Given the description of an element on the screen output the (x, y) to click on. 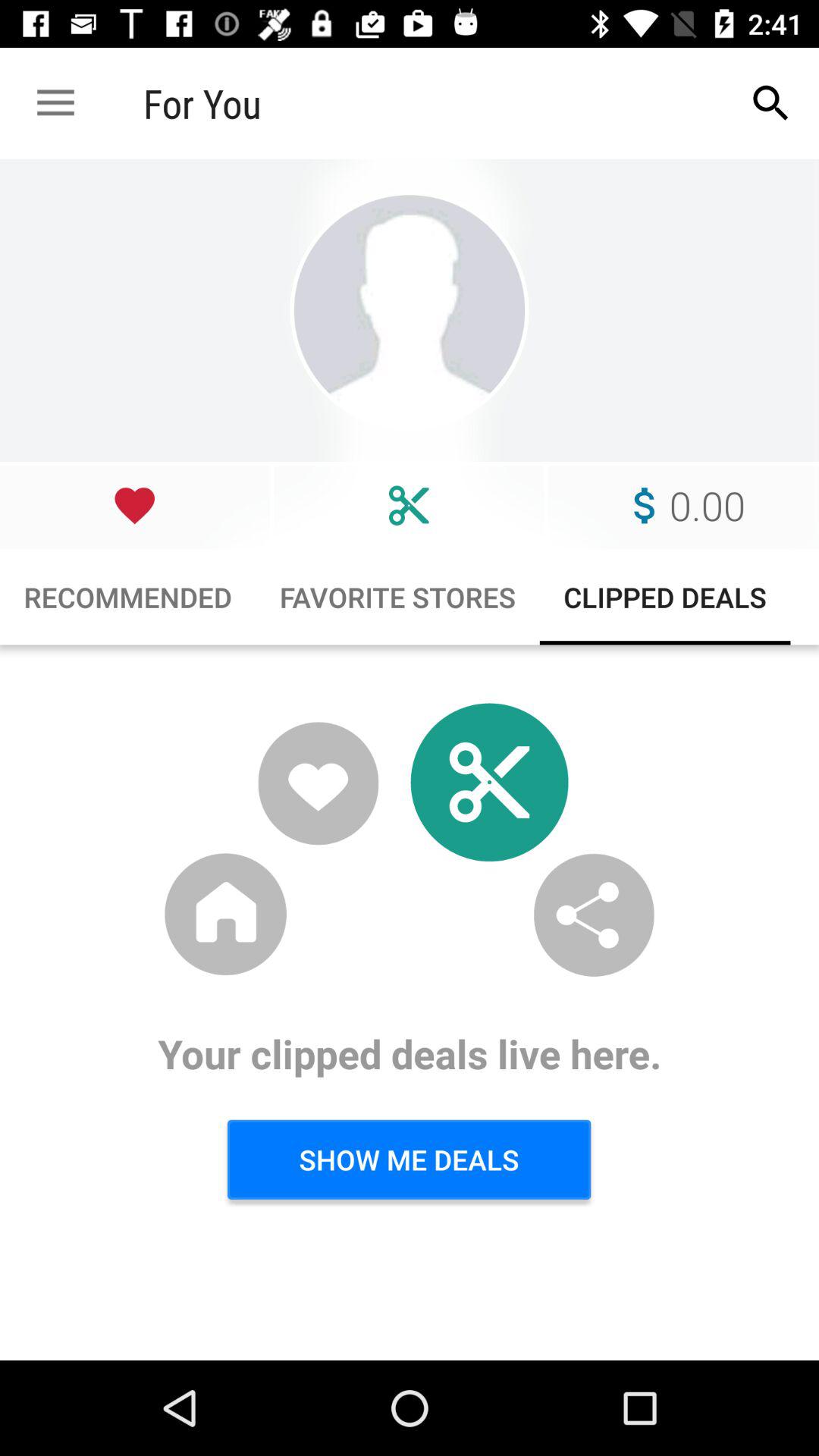
launch show me deals (408, 1159)
